Given the description of an element on the screen output the (x, y) to click on. 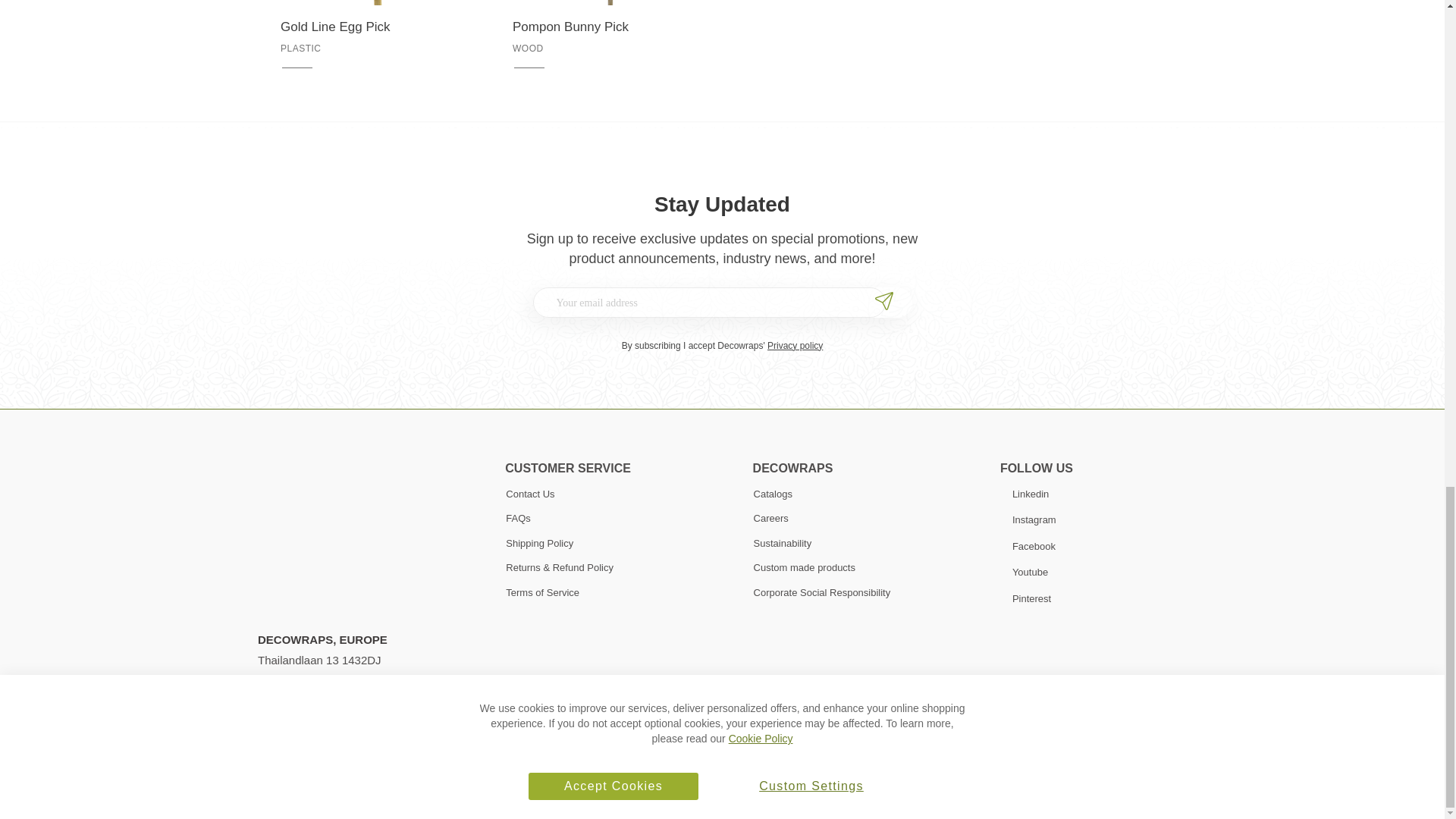
Subscribe (885, 301)
Terms and Conditions (306, 793)
Uzer (769, 793)
Gold Line Egg Pick (374, 27)
Site map (465, 793)
Privacy Policy  (395, 793)
Pompon bunny pick (605, 27)
